Given the description of an element on the screen output the (x, y) to click on. 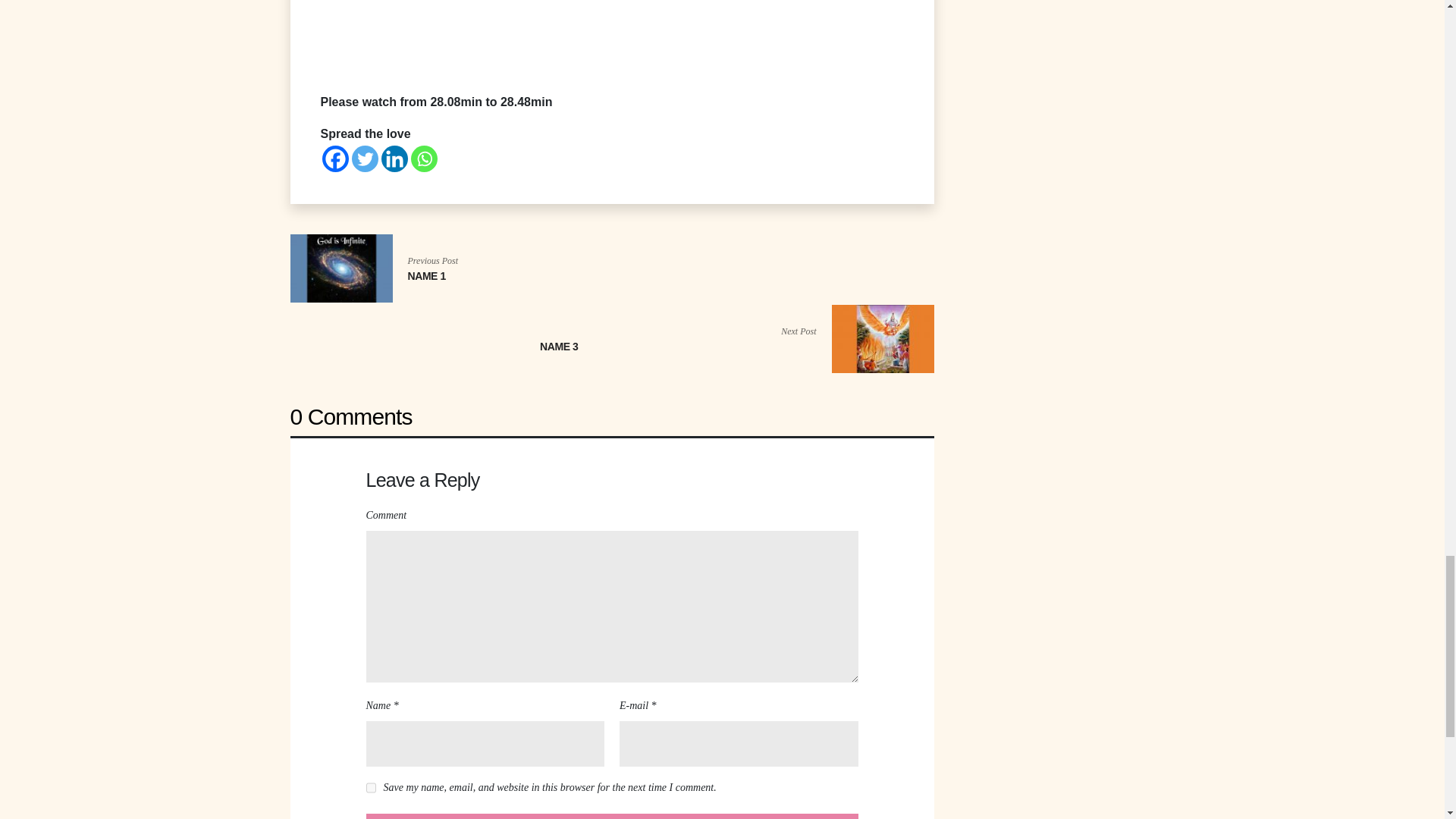
Sixth Swaminar (611, 37)
Linkedin (393, 158)
Whatsapp (424, 158)
Facebook (334, 158)
Twitter (365, 158)
